Given the description of an element on the screen output the (x, y) to click on. 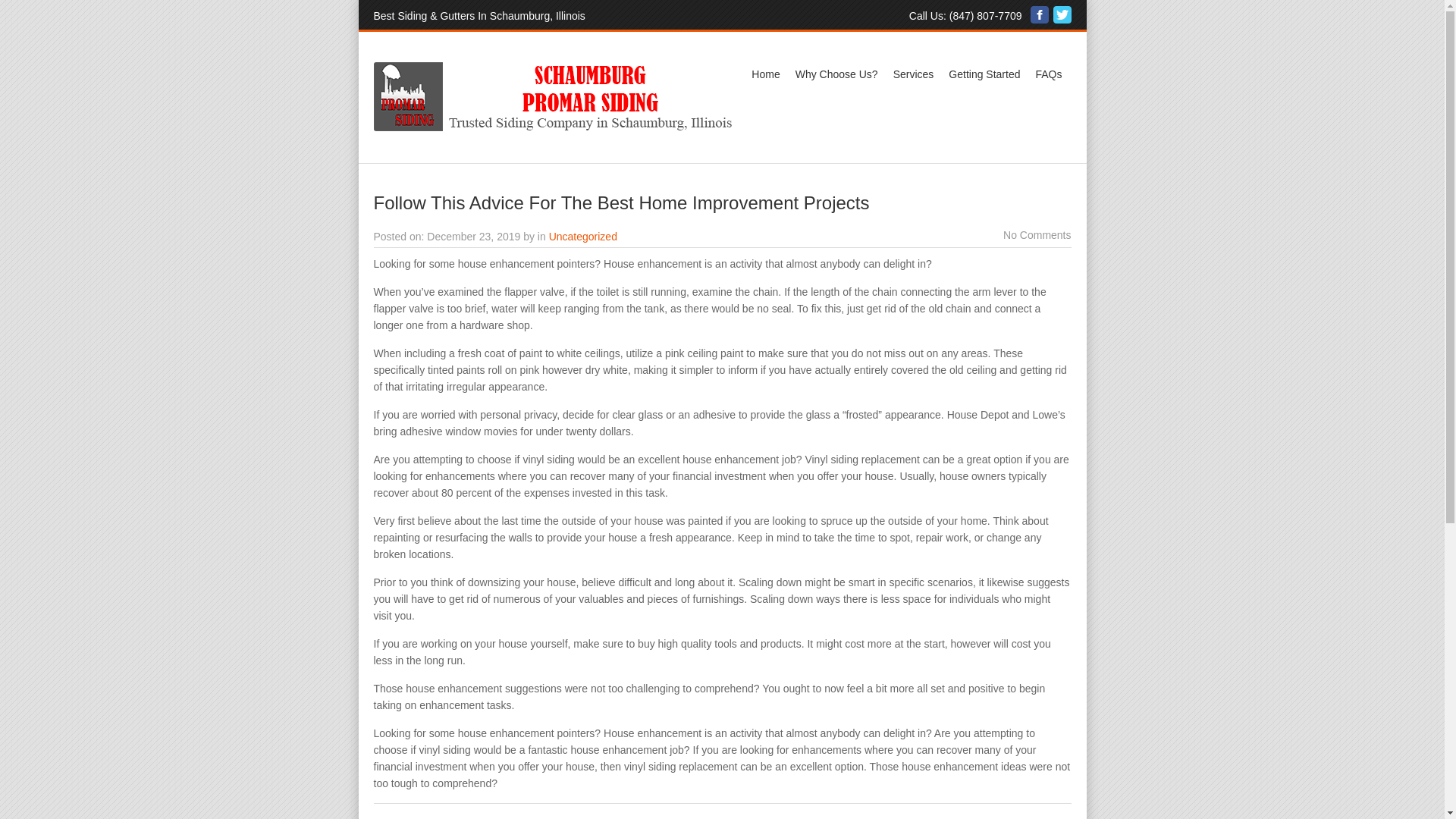
Services (913, 74)
Uncategorized (582, 236)
Why Choose Us? (836, 74)
Home (765, 74)
FAQs (1048, 74)
Getting Started (984, 74)
